Given the description of an element on the screen output the (x, y) to click on. 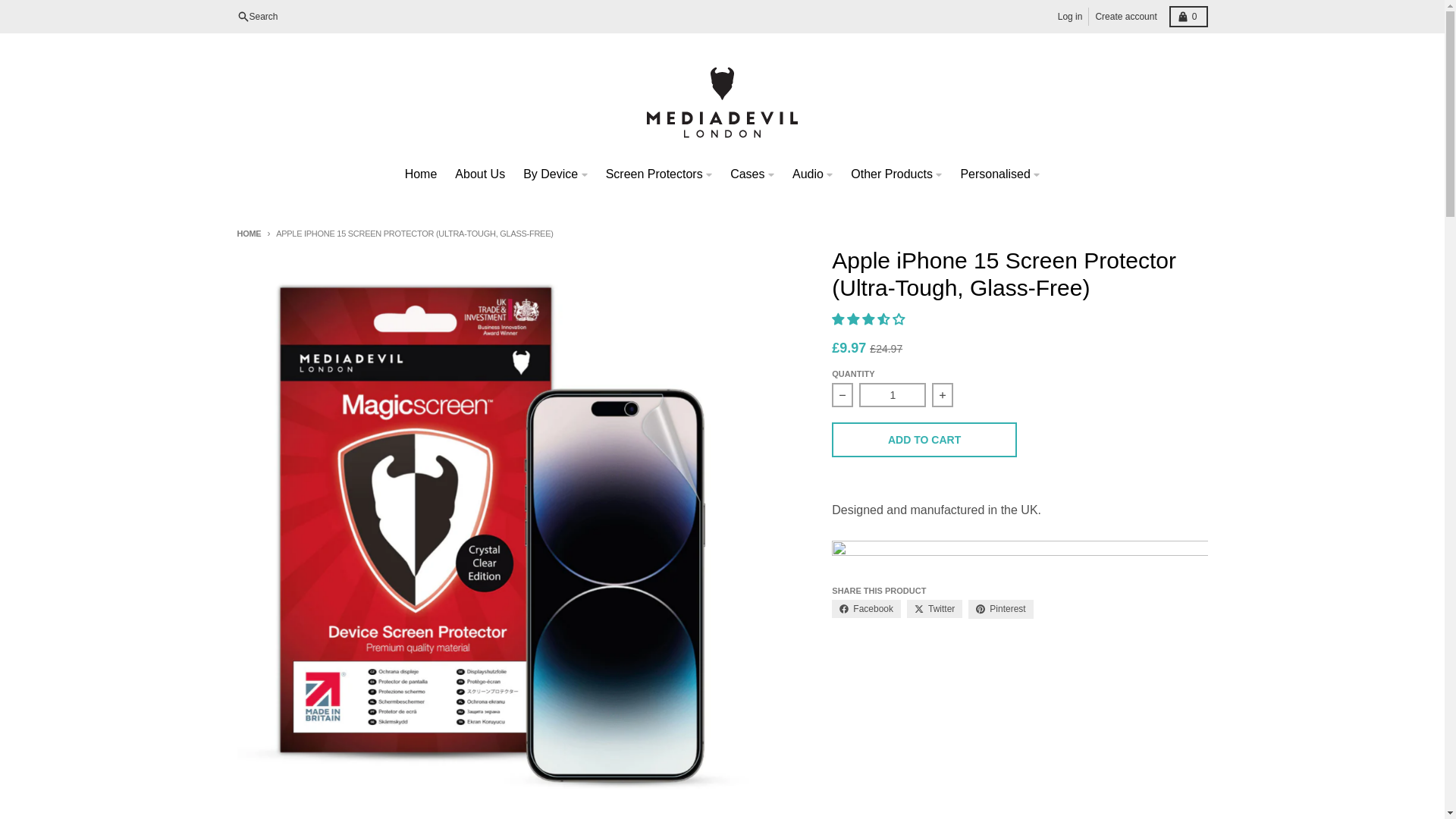
1 (892, 395)
Search (256, 16)
Back to the homepage (247, 233)
Create account (1124, 16)
Log in (1070, 16)
